Given the description of an element on the screen output the (x, y) to click on. 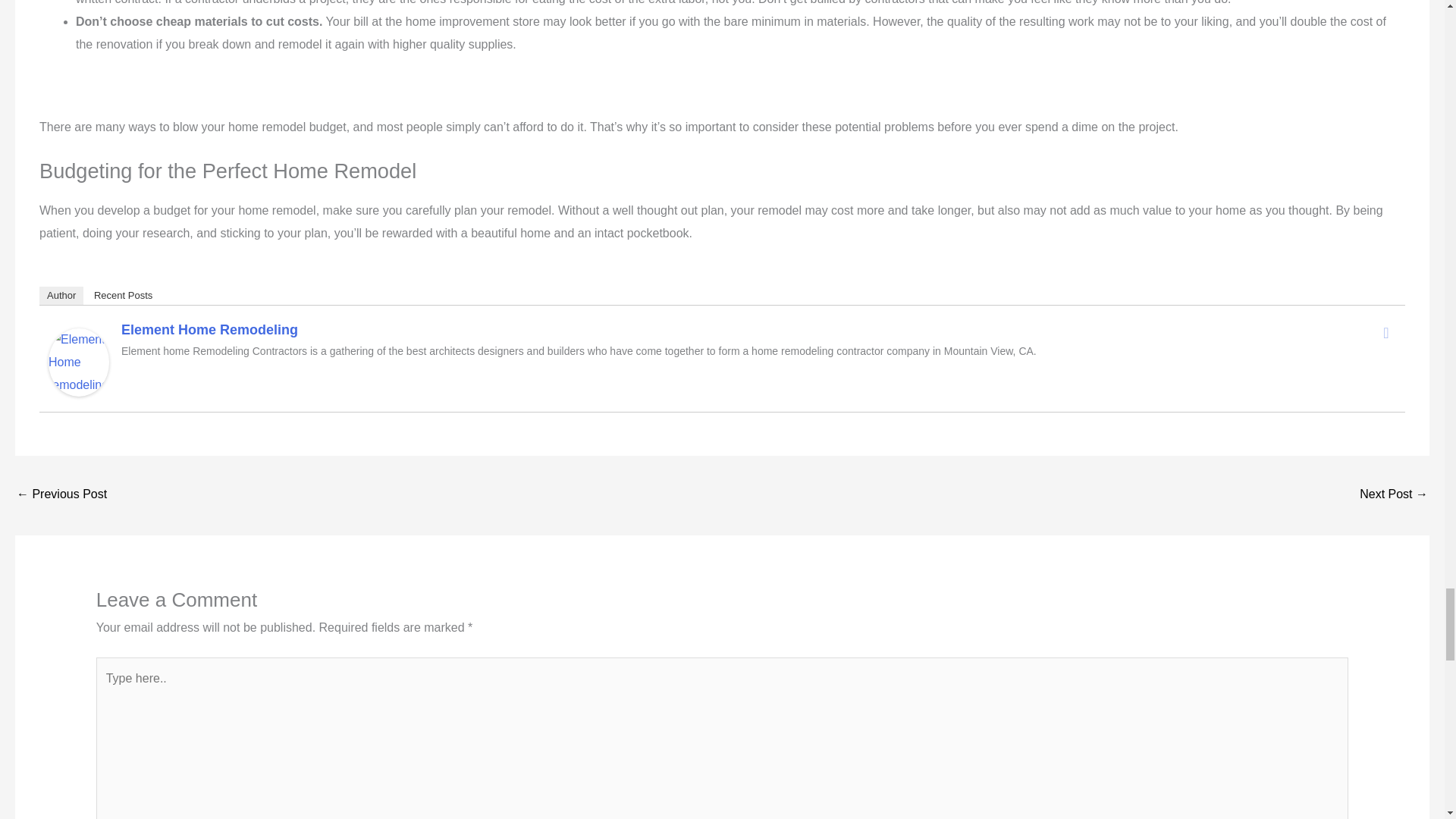
Recent Posts (122, 295)
Element Home Remodeling (209, 329)
Element Home remodeling (78, 360)
Author (60, 295)
How Long Does a Kitchen Renovation Take? (61, 495)
Facebook (1385, 332)
These Are The 10 Steps To A Great Home Remodel Plan (1393, 495)
